Given the description of an element on the screen output the (x, y) to click on. 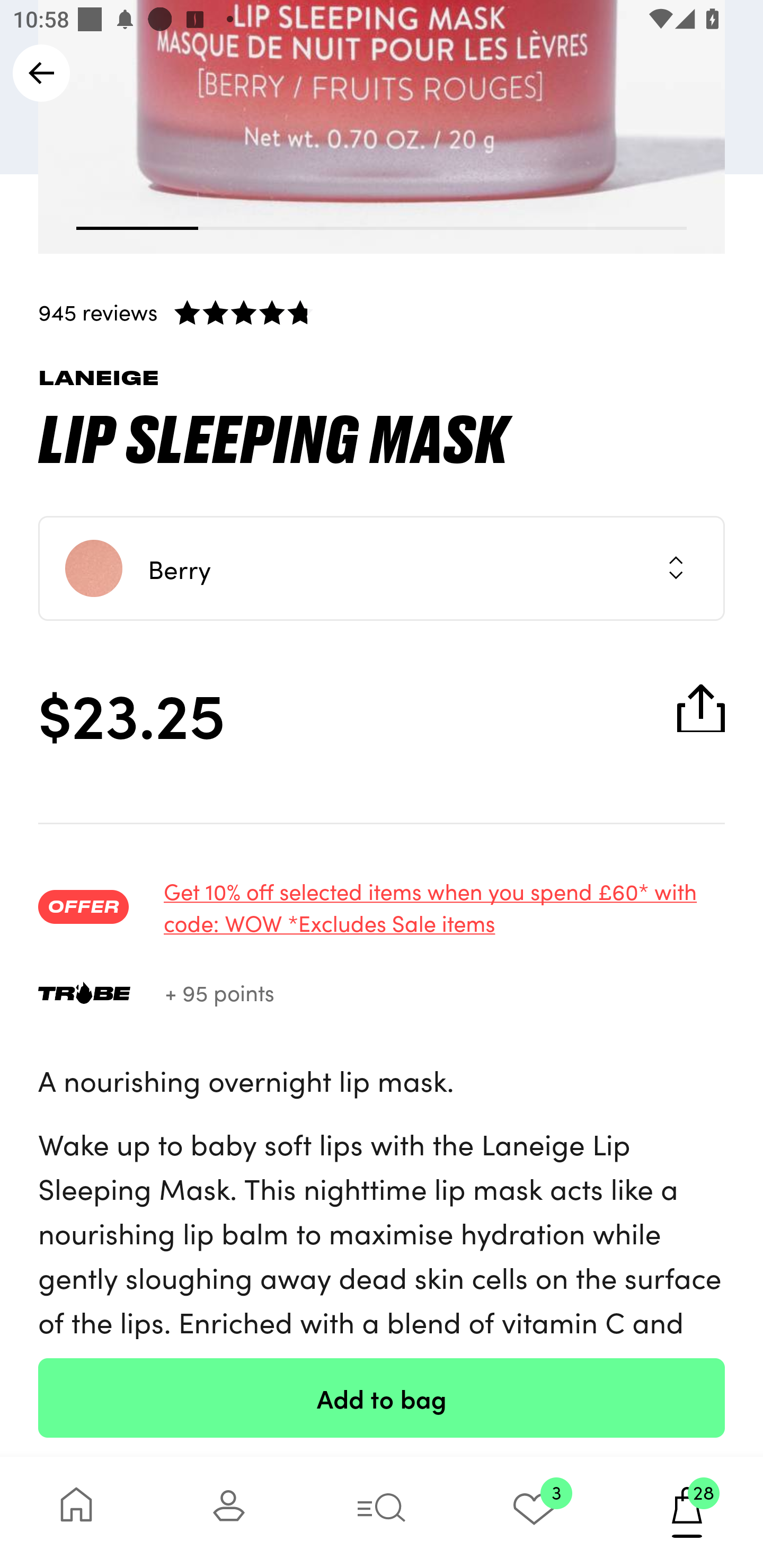
945 reviews (381, 311)
Berry  (381, 567)
Add to bag (381, 1397)
3 (533, 1512)
28 (686, 1512)
